Given the description of an element on the screen output the (x, y) to click on. 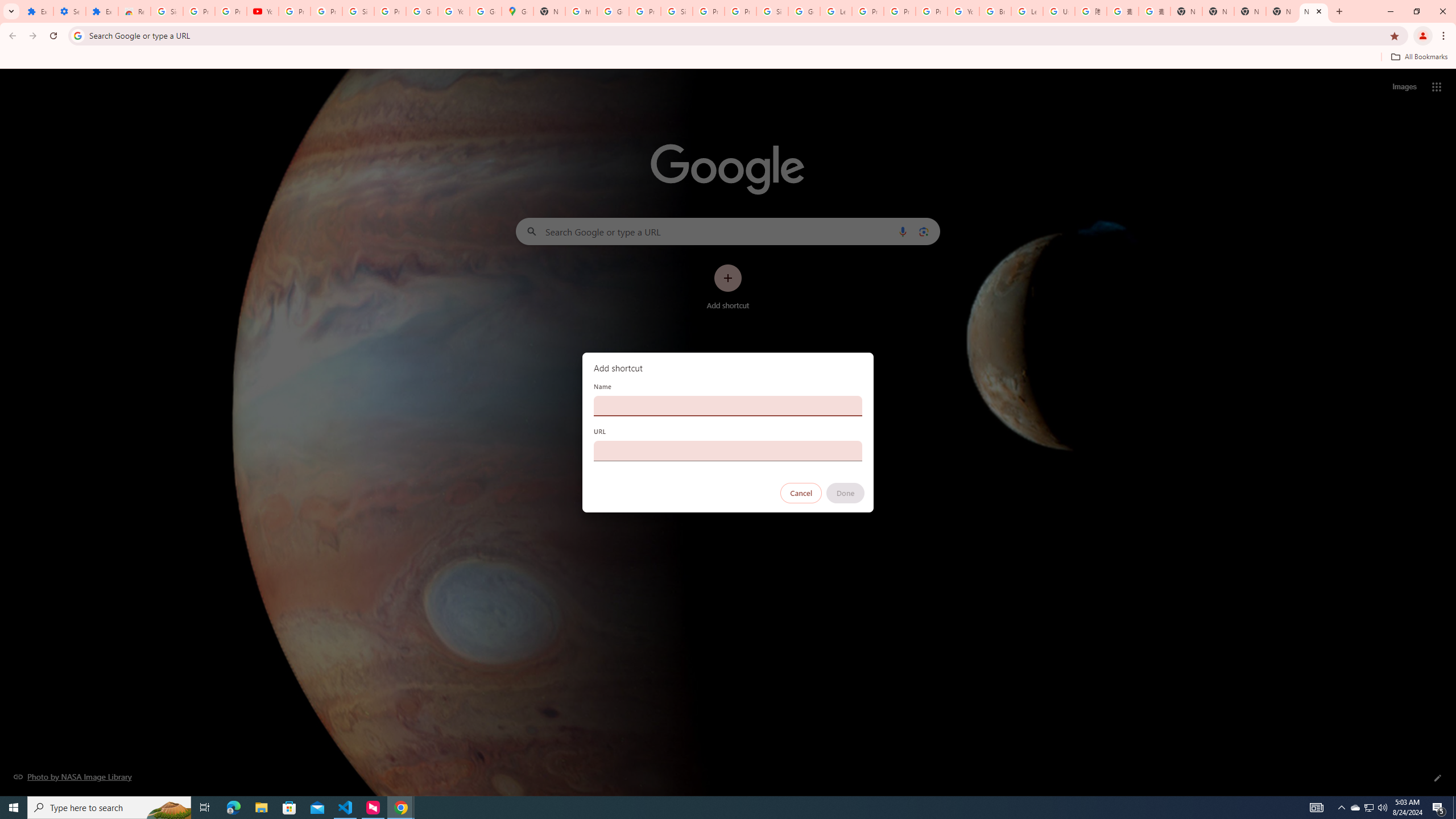
Google Maps (517, 11)
Cancel (801, 493)
YouTube (262, 11)
New Tab (1313, 11)
Privacy Help Center - Policies Help (899, 11)
Done (845, 493)
